Given the description of an element on the screen output the (x, y) to click on. 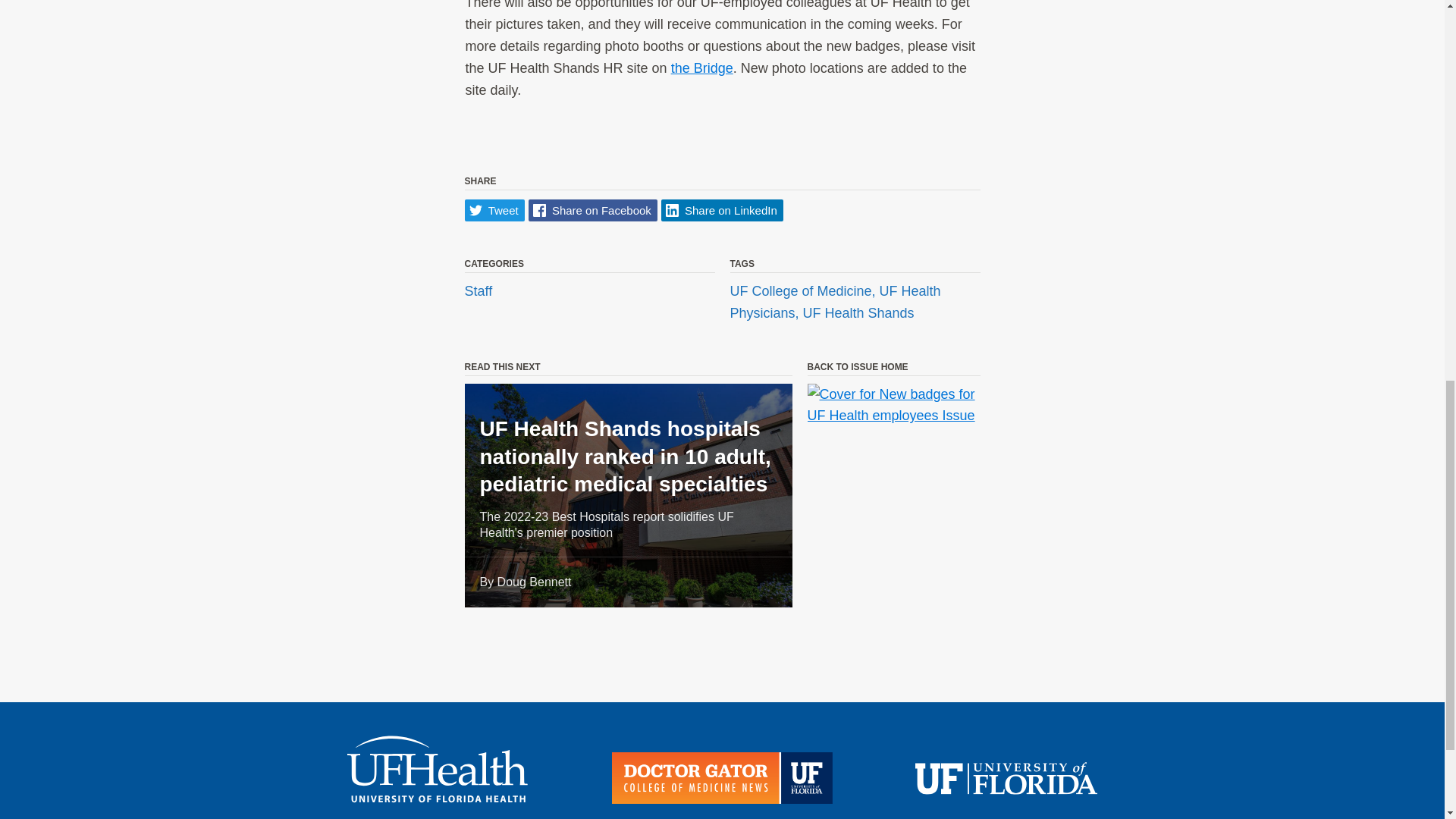
UF Health Physicians, (834, 302)
Staff (478, 290)
Publication Logo (721, 781)
Share on LinkedIn (722, 210)
UF Health Shands (858, 313)
University of Florida (1005, 779)
Share on Facebook (593, 210)
Tweet (494, 210)
University of Florida Logo (1005, 779)
